Given the description of an element on the screen output the (x, y) to click on. 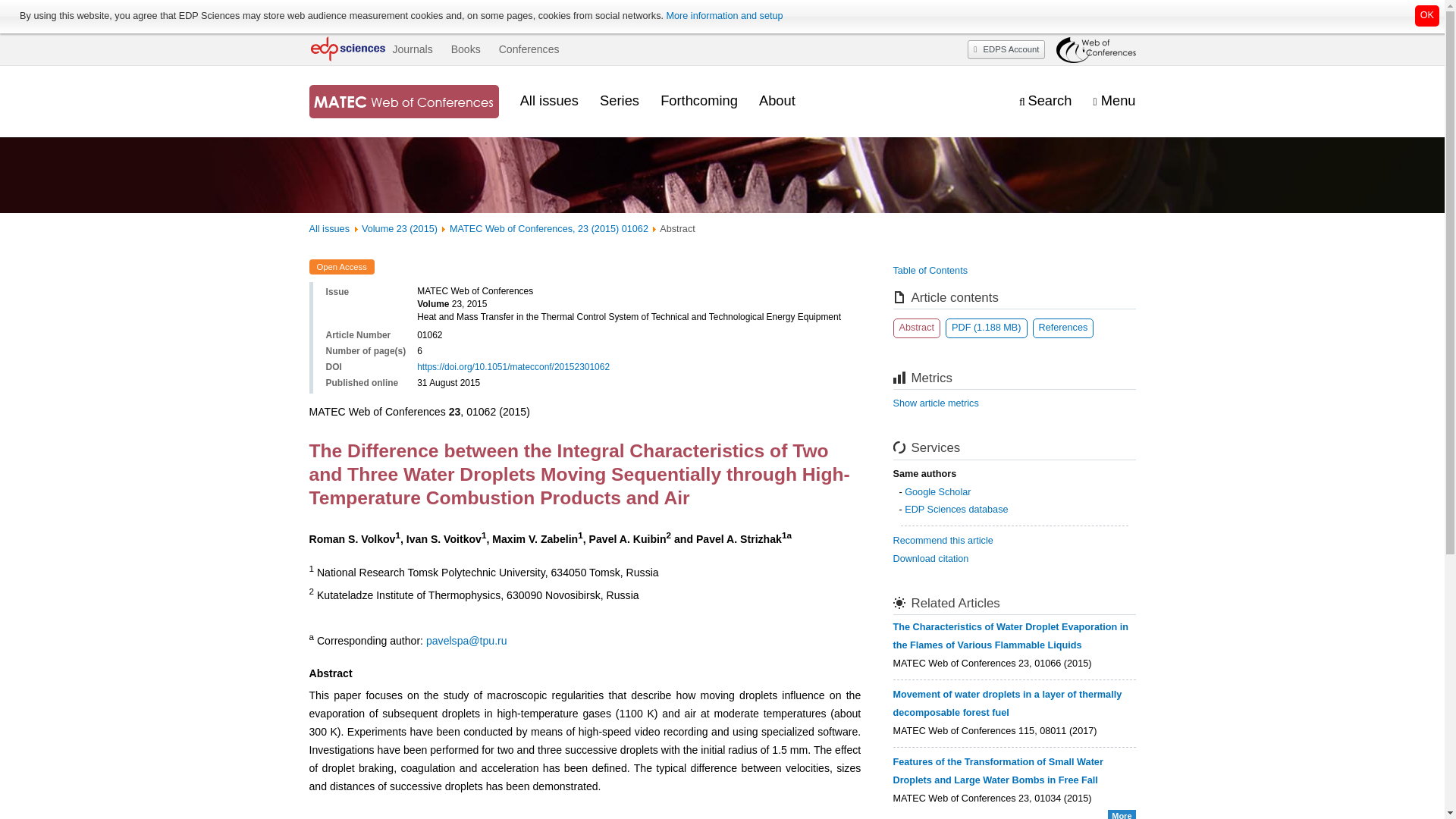
Journals (411, 49)
Abstract (916, 328)
Display the search engine (1045, 101)
Journal homepage (403, 101)
Click to close this notification (1427, 15)
Conferences (529, 49)
OK (1427, 15)
More information and setup (724, 15)
Books (465, 49)
